Given the description of an element on the screen output the (x, y) to click on. 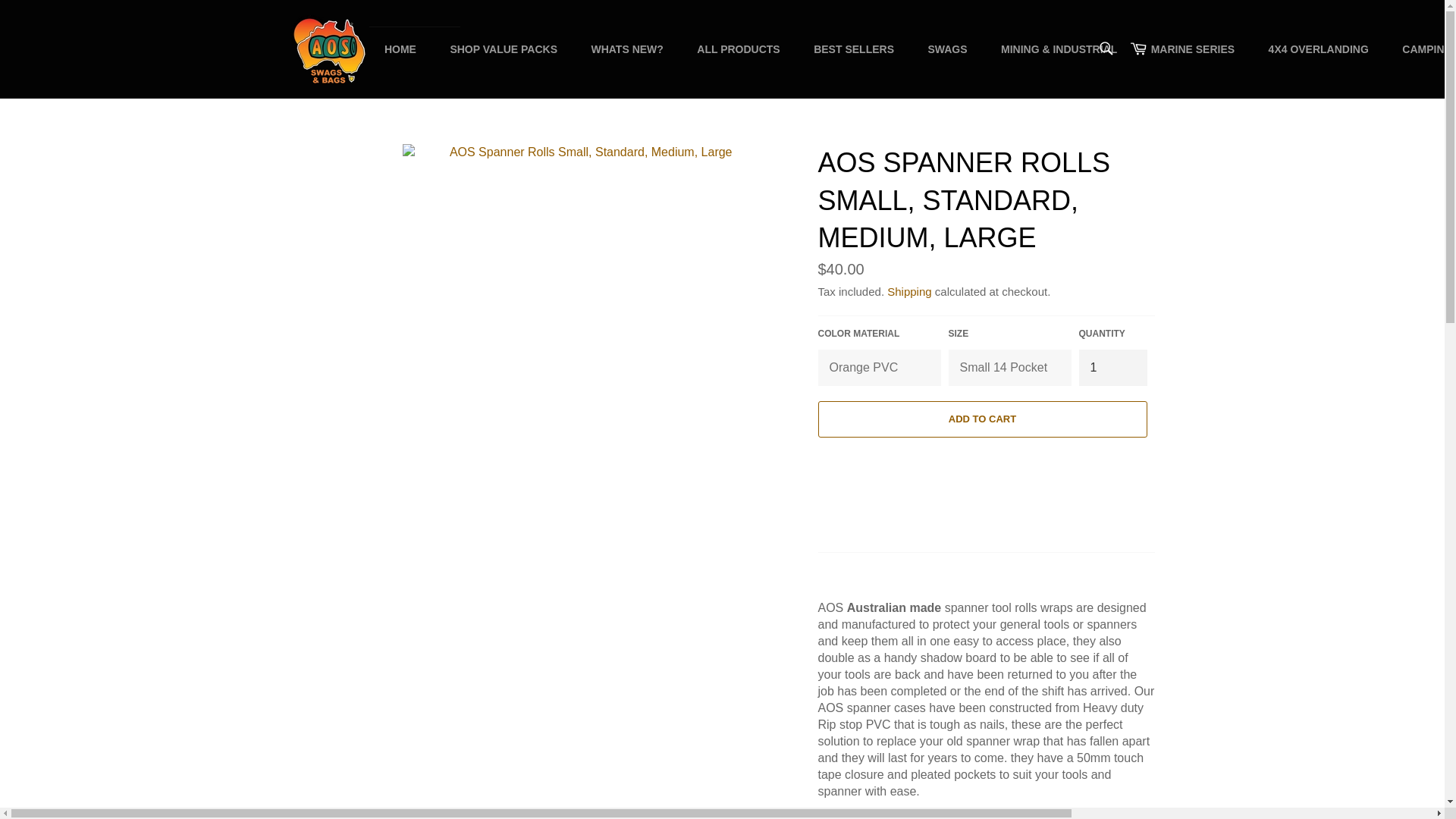
SWAGS (946, 49)
1 (1112, 367)
SHOP VALUE PACKS (502, 49)
CAMPING (1421, 49)
MARINE SERIES (1192, 49)
ALL PRODUCTS (737, 49)
4X4 OVERLANDING (1318, 49)
Cart (1138, 48)
BEST SELLERS (852, 49)
Search (1104, 47)
